Given the description of an element on the screen output the (x, y) to click on. 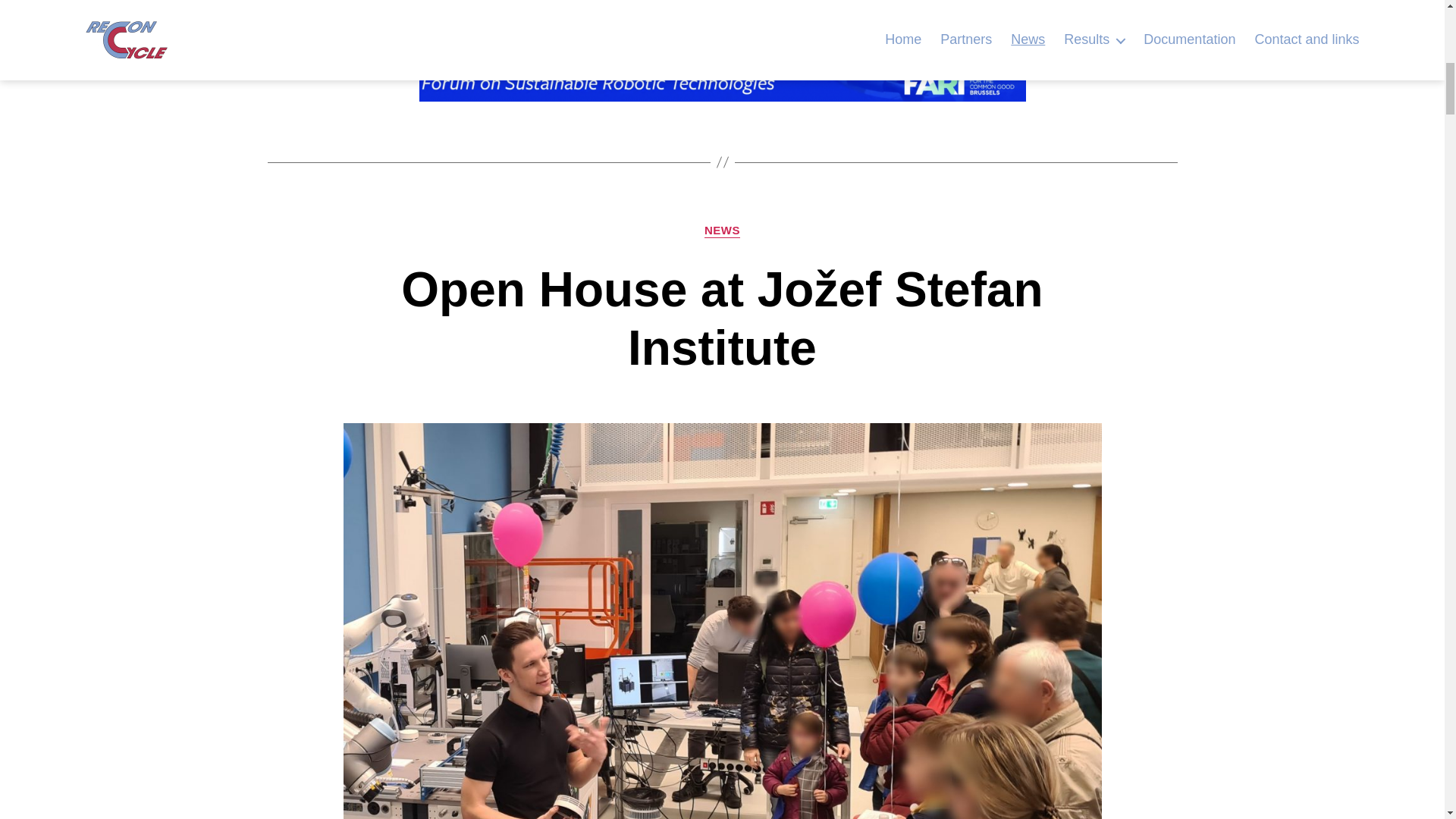
NEWS (721, 231)
